Given the description of an element on the screen output the (x, y) to click on. 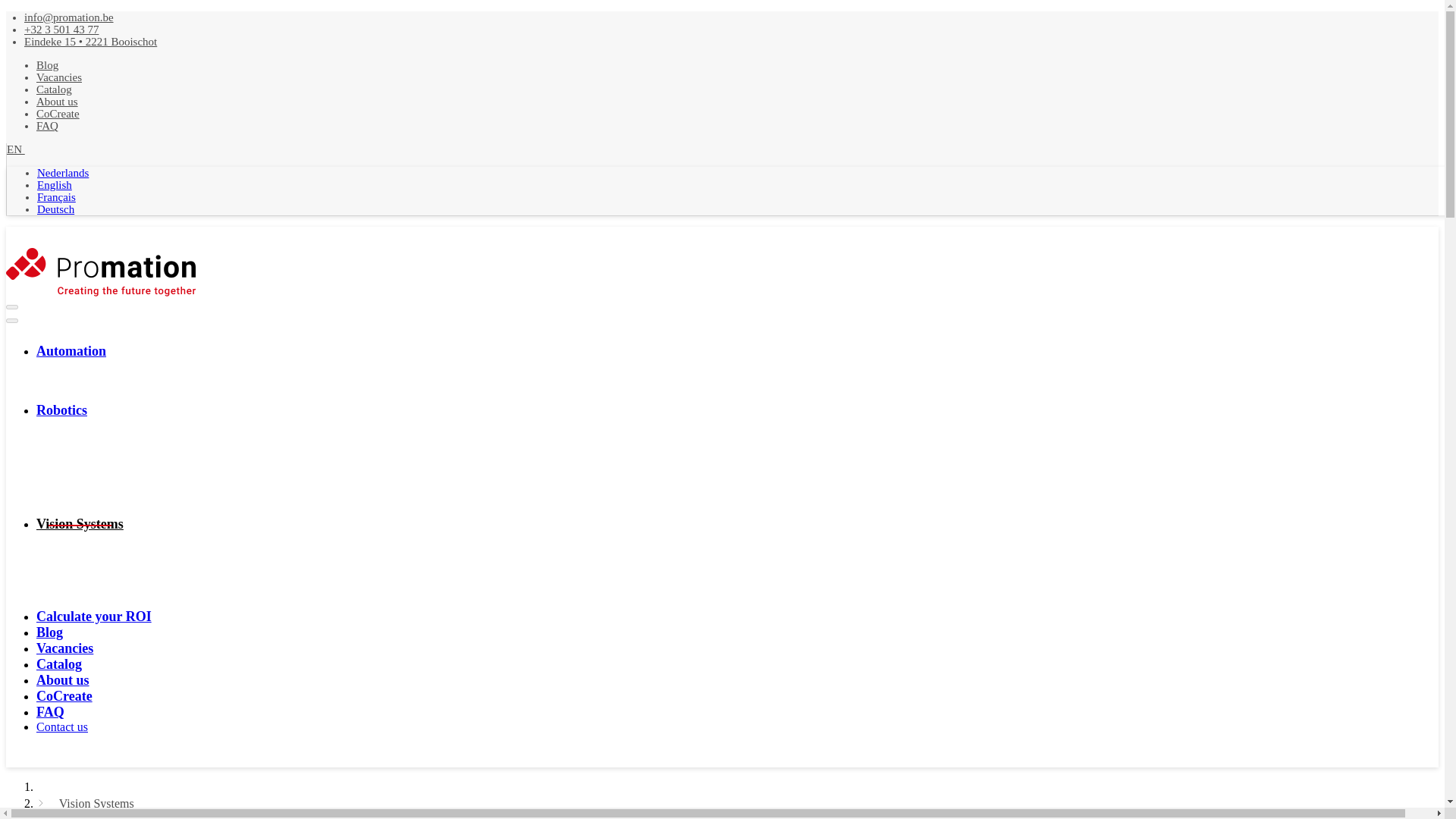
Robotics (61, 410)
CoCreate (64, 696)
Deutsch (55, 209)
About us (62, 680)
Catalog (53, 89)
FAQ (47, 125)
Nederlands (62, 173)
Automation (71, 351)
Calculate your ROI (93, 616)
About us (57, 101)
Vacancies (58, 77)
Vision Systems (79, 524)
EN (20, 149)
Blog (47, 64)
FAQ (50, 712)
